Given the description of an element on the screen output the (x, y) to click on. 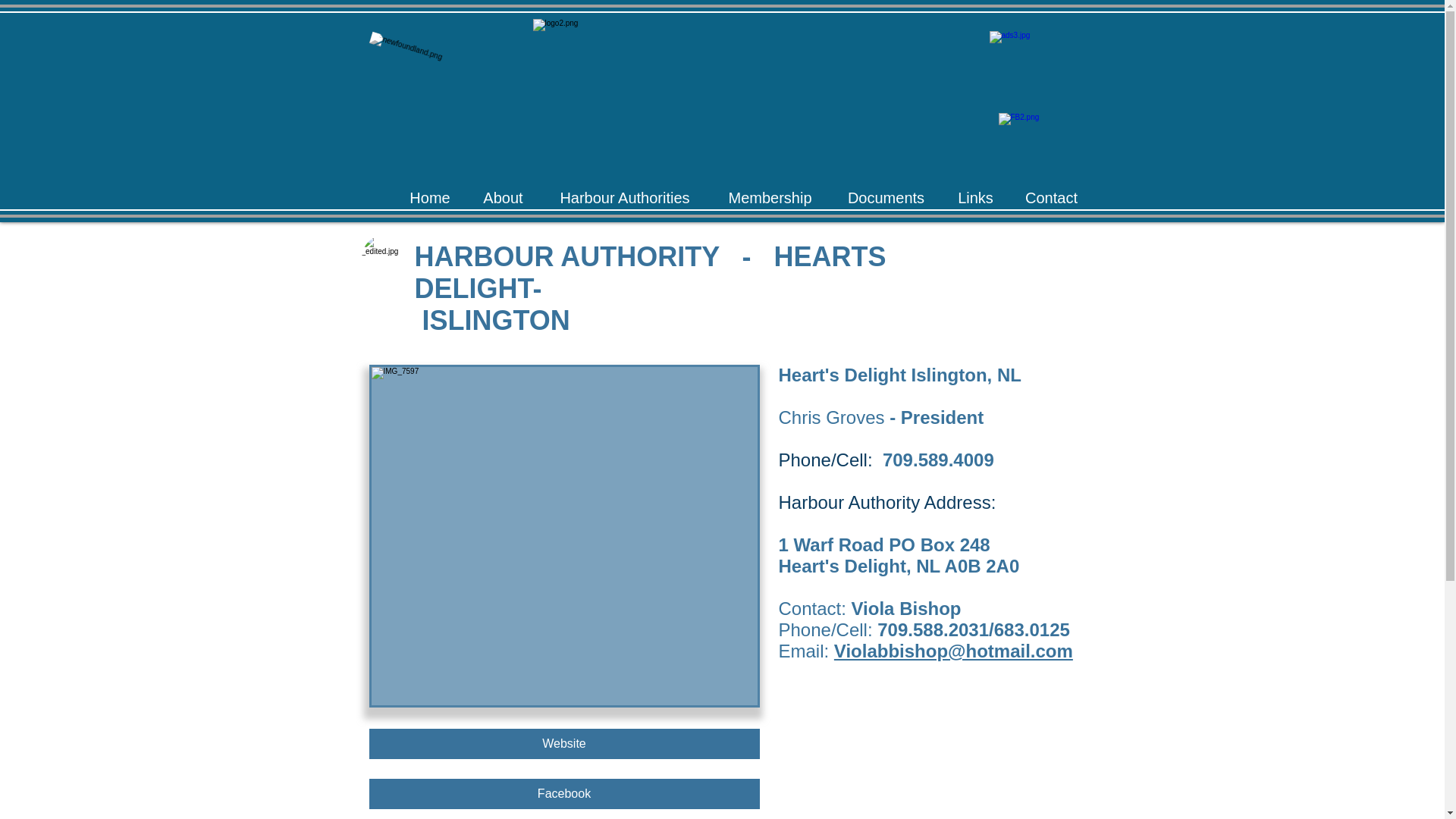
About (503, 195)
Membership (769, 195)
Website (563, 743)
Links (975, 195)
Contact (1051, 195)
Facebook (563, 793)
Home (429, 195)
Harbour Authorities (625, 195)
Documents (885, 195)
